Given the description of an element on the screen output the (x, y) to click on. 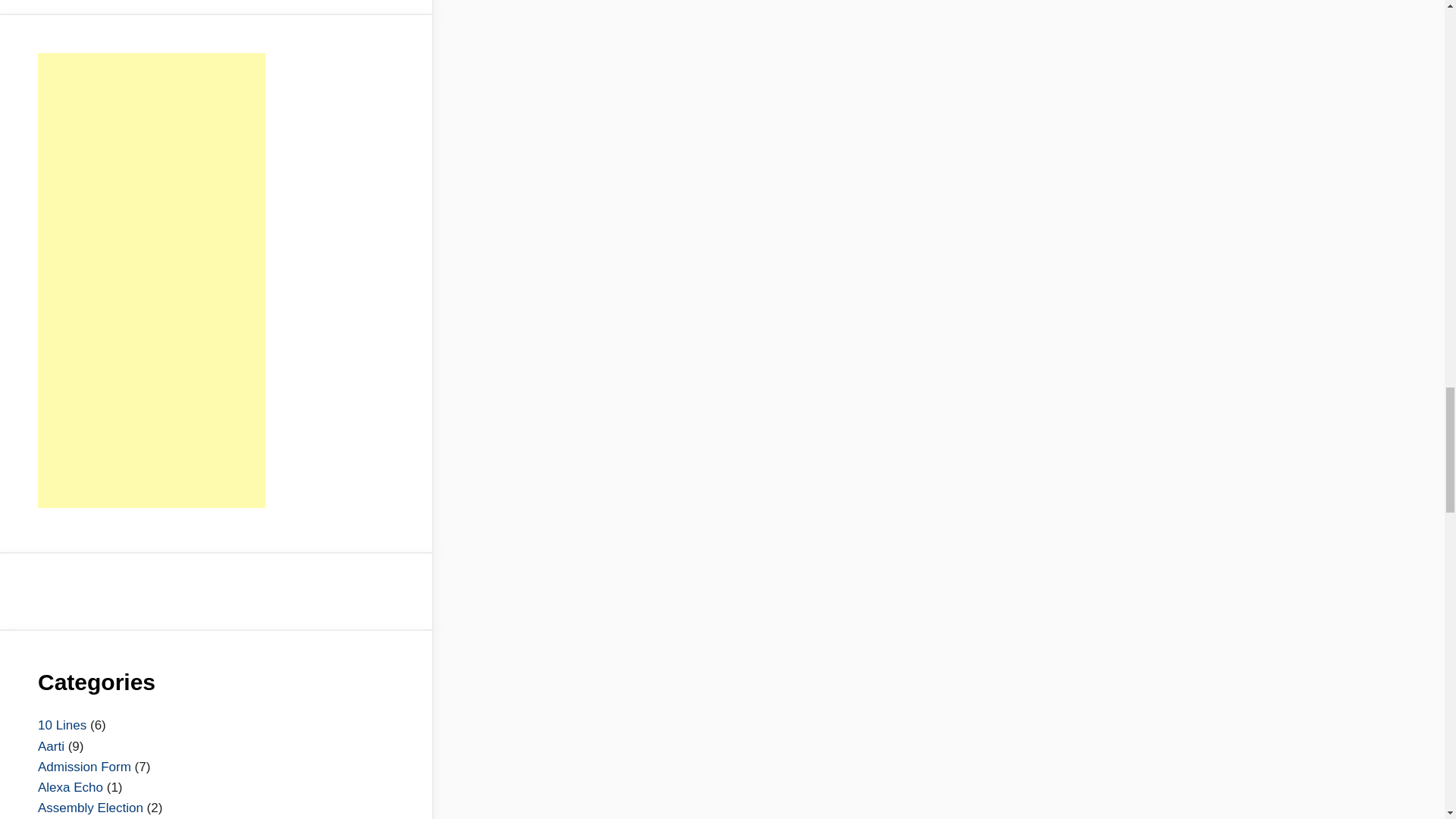
10 Lines (61, 725)
Aarti (50, 746)
Alexa Echo (70, 787)
Admission Form (84, 766)
Assembly Election (89, 807)
